Given the description of an element on the screen output the (x, y) to click on. 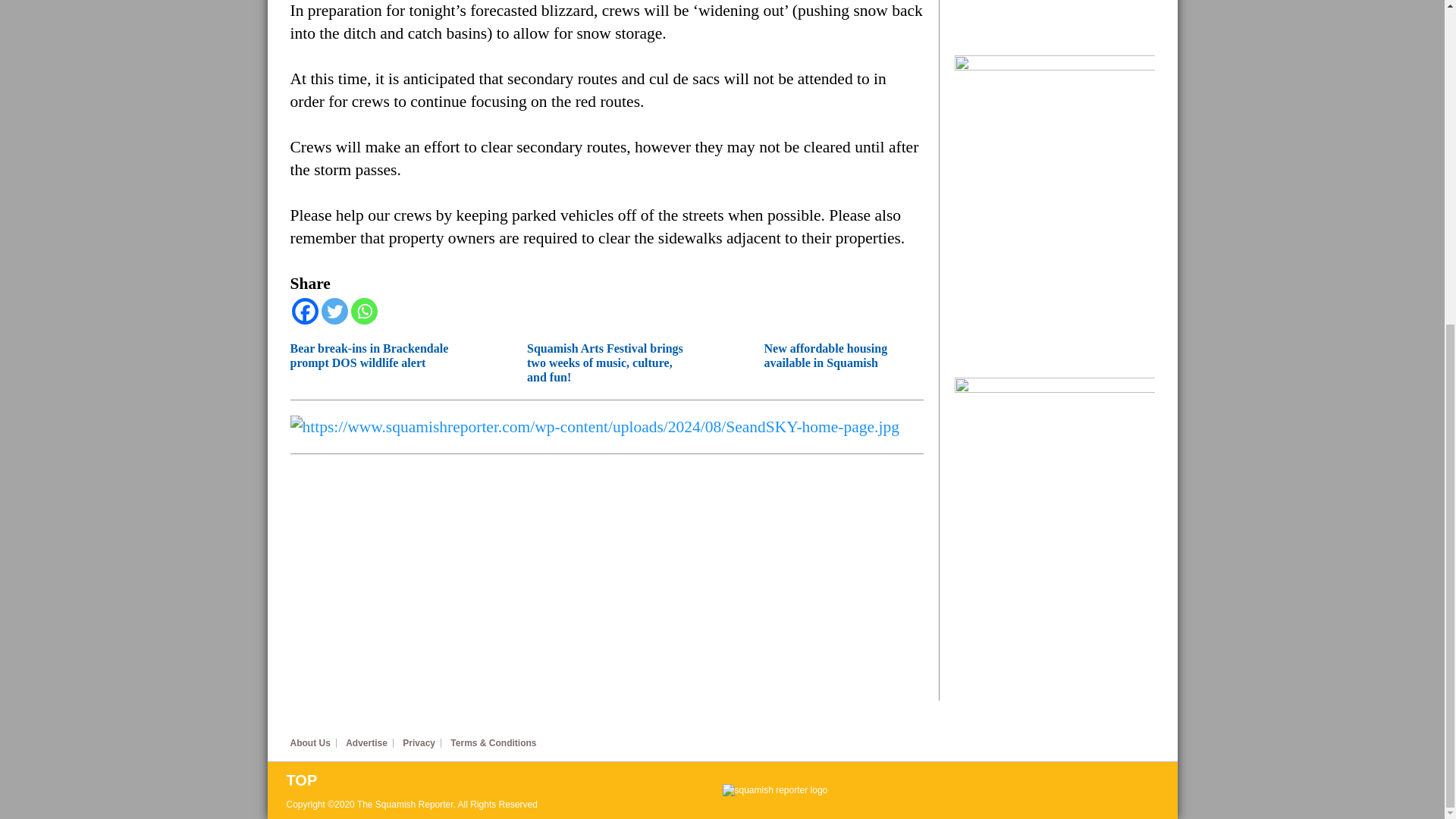
TOP (504, 780)
Advertise (369, 742)
Back To Top (504, 780)
Whatsapp (363, 311)
Privacy (422, 742)
Facebook (304, 311)
Twitter (334, 311)
About Us (312, 742)
